Given the description of an element on the screen output the (x, y) to click on. 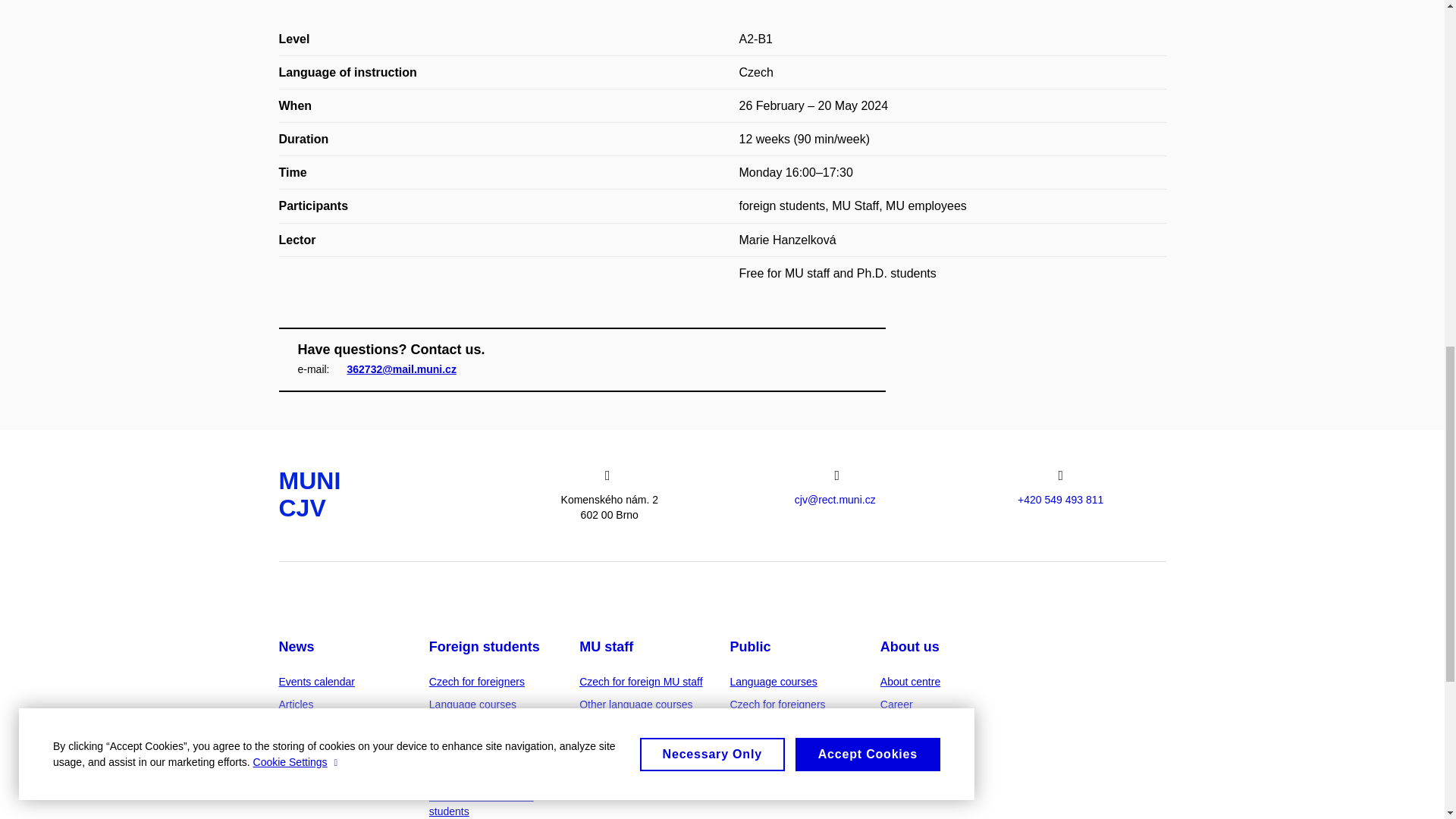
Czech for foreign MU staff (640, 680)
For MU LC employees (632, 727)
Guide for international students (481, 803)
Writing Lab (456, 773)
Events calendar (317, 680)
MU staff (606, 646)
News (296, 646)
Articles (296, 704)
Czech for foreigners (476, 680)
Language courses (472, 704)
Foreign students (484, 646)
Other language courses (636, 704)
Public (749, 646)
Teaching assistants (475, 727)
Summer schools (468, 749)
